Given the description of an element on the screen output the (x, y) to click on. 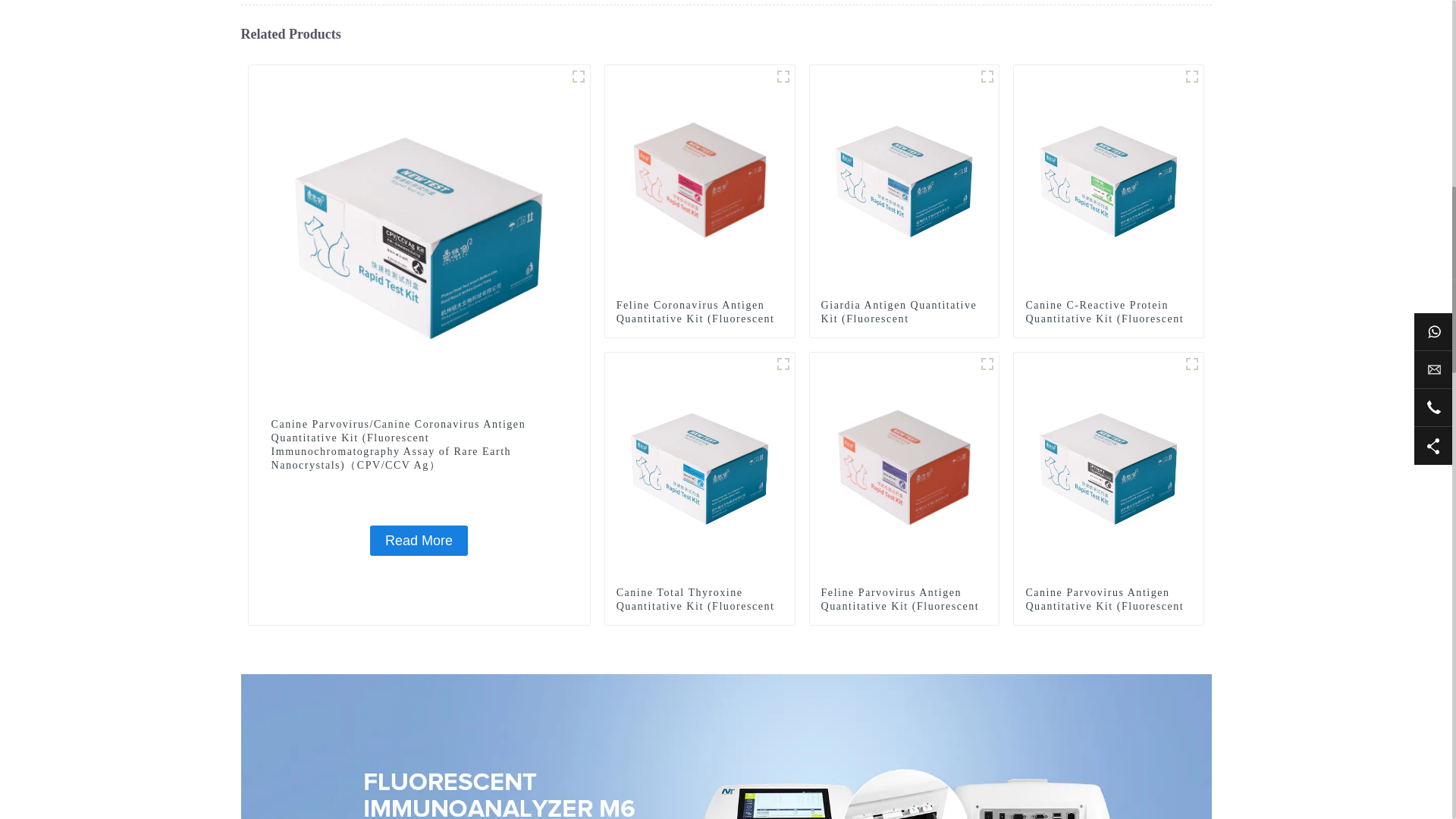
GIA (986, 76)
cTT4 (782, 363)
cCRP (1192, 76)
FCoV Ag (782, 76)
CPV-CCV Ag (578, 76)
